Given the description of an element on the screen output the (x, y) to click on. 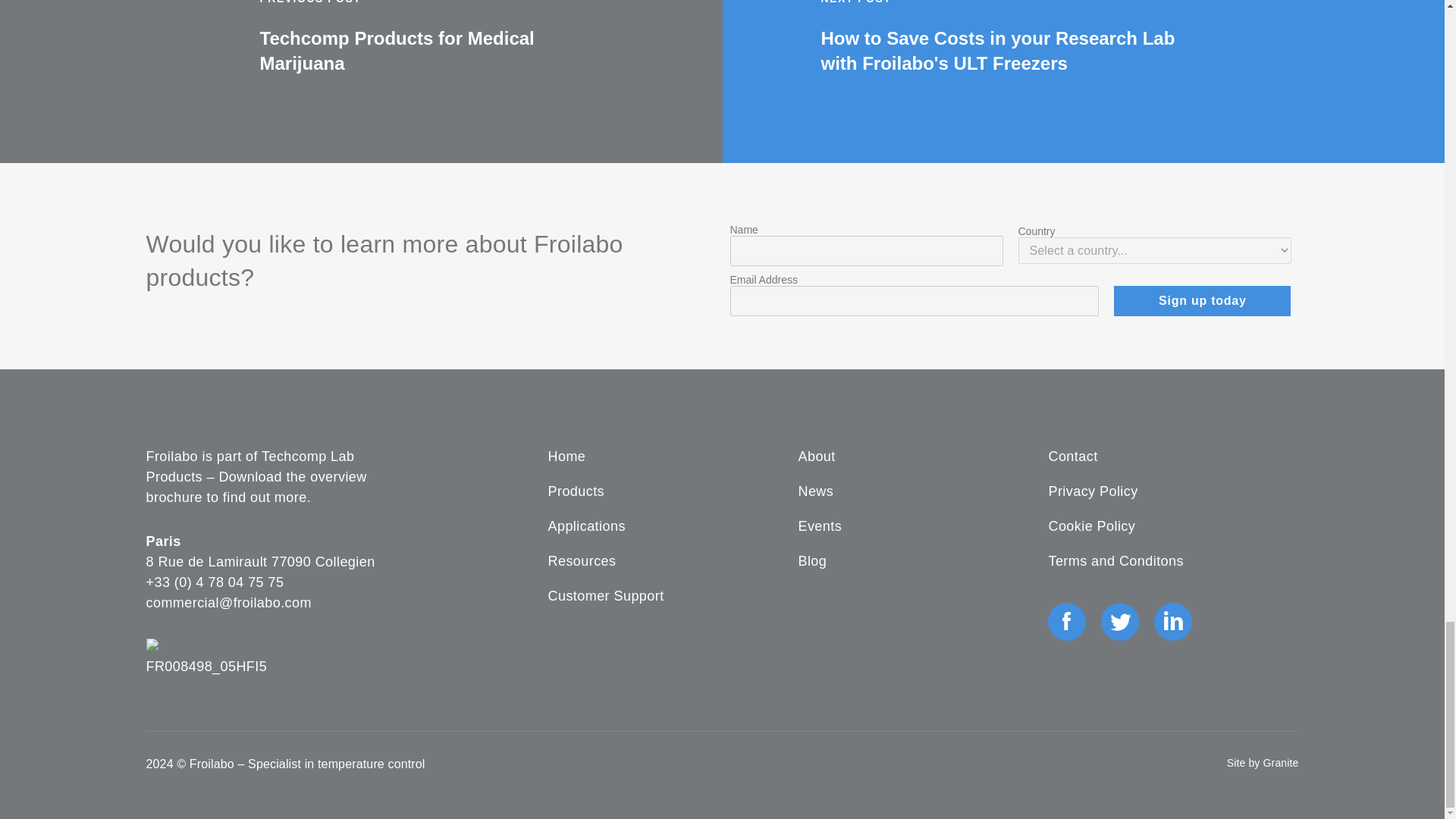
Sign up today (1201, 300)
visit our linkedin page (1172, 620)
